Given the description of an element on the screen output the (x, y) to click on. 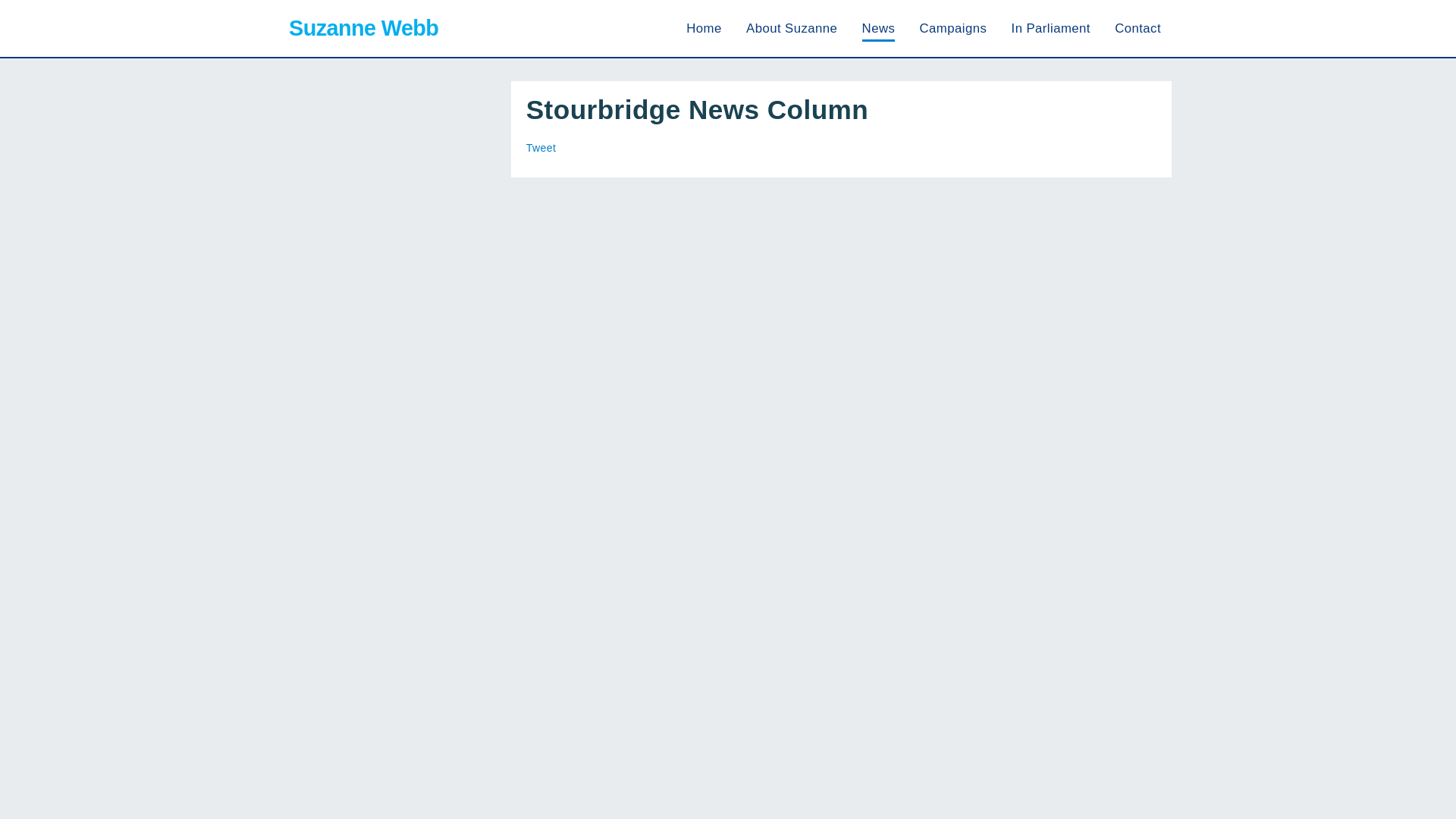
Campaigns (953, 28)
Contact (1137, 28)
About Suzanne (791, 28)
Suzanne Webb (360, 27)
News (878, 28)
In Parliament (1050, 28)
Tweet (540, 147)
Home (702, 28)
